Given the description of an element on the screen output the (x, y) to click on. 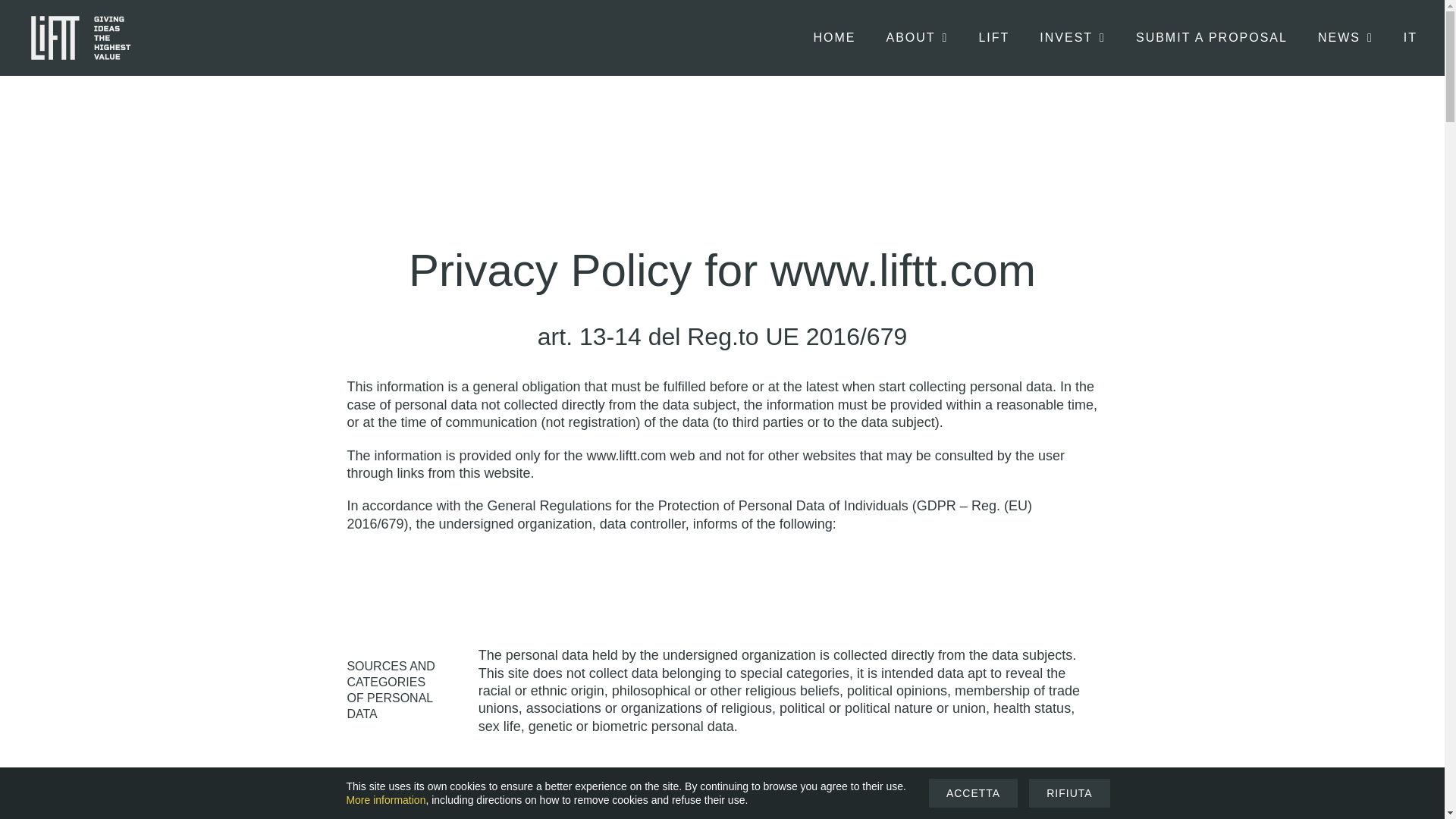
SUBMIT A PROPOSAL (1211, 38)
